Given the description of an element on the screen output the (x, y) to click on. 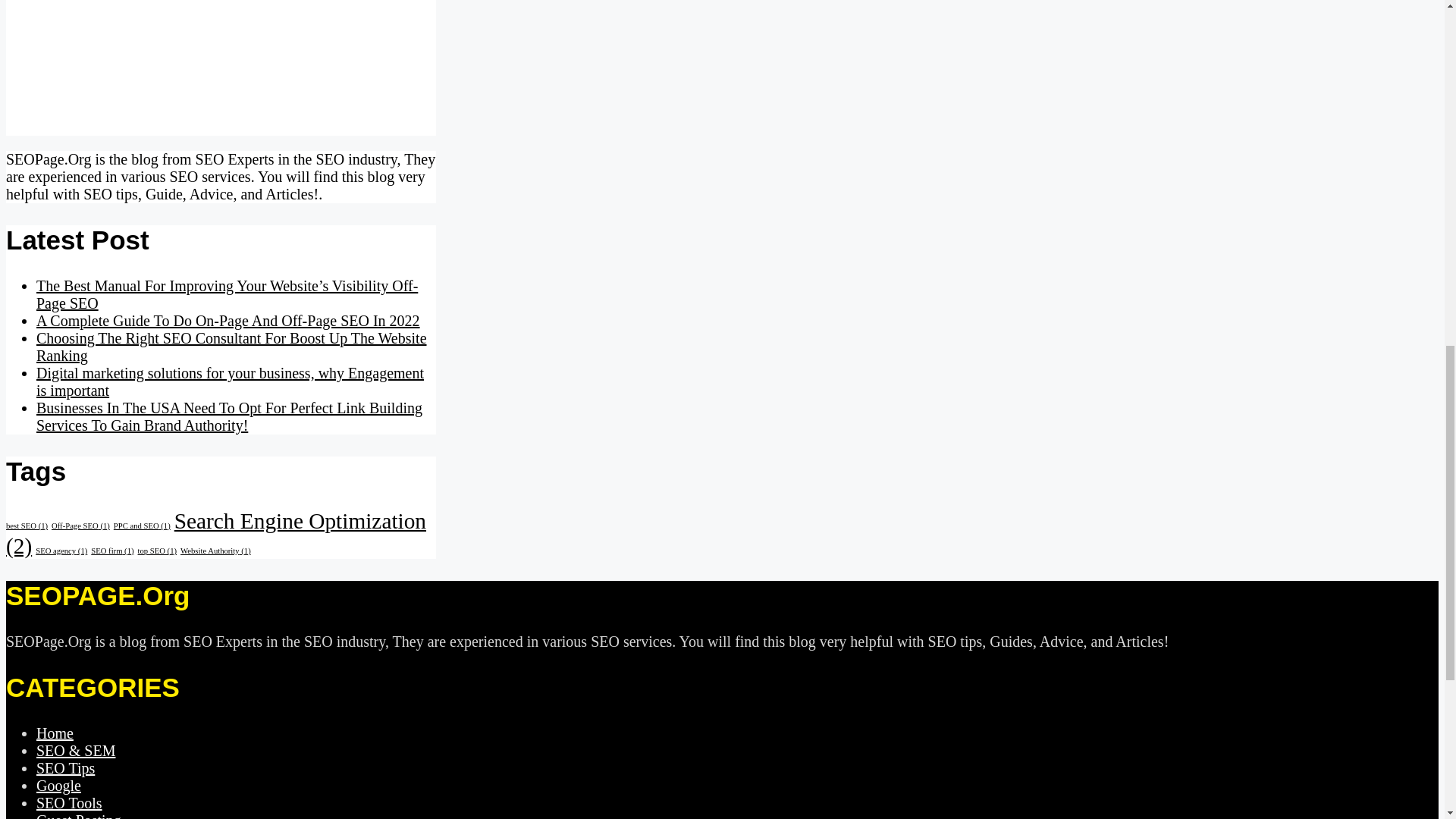
SEO Tips (65, 768)
Home (55, 733)
Guest Posting (78, 815)
Google (58, 785)
SEO Tools (68, 802)
A Complete Guide To Do On-Page And Off-Page SEO In 2022 (228, 320)
